Given the description of an element on the screen output the (x, y) to click on. 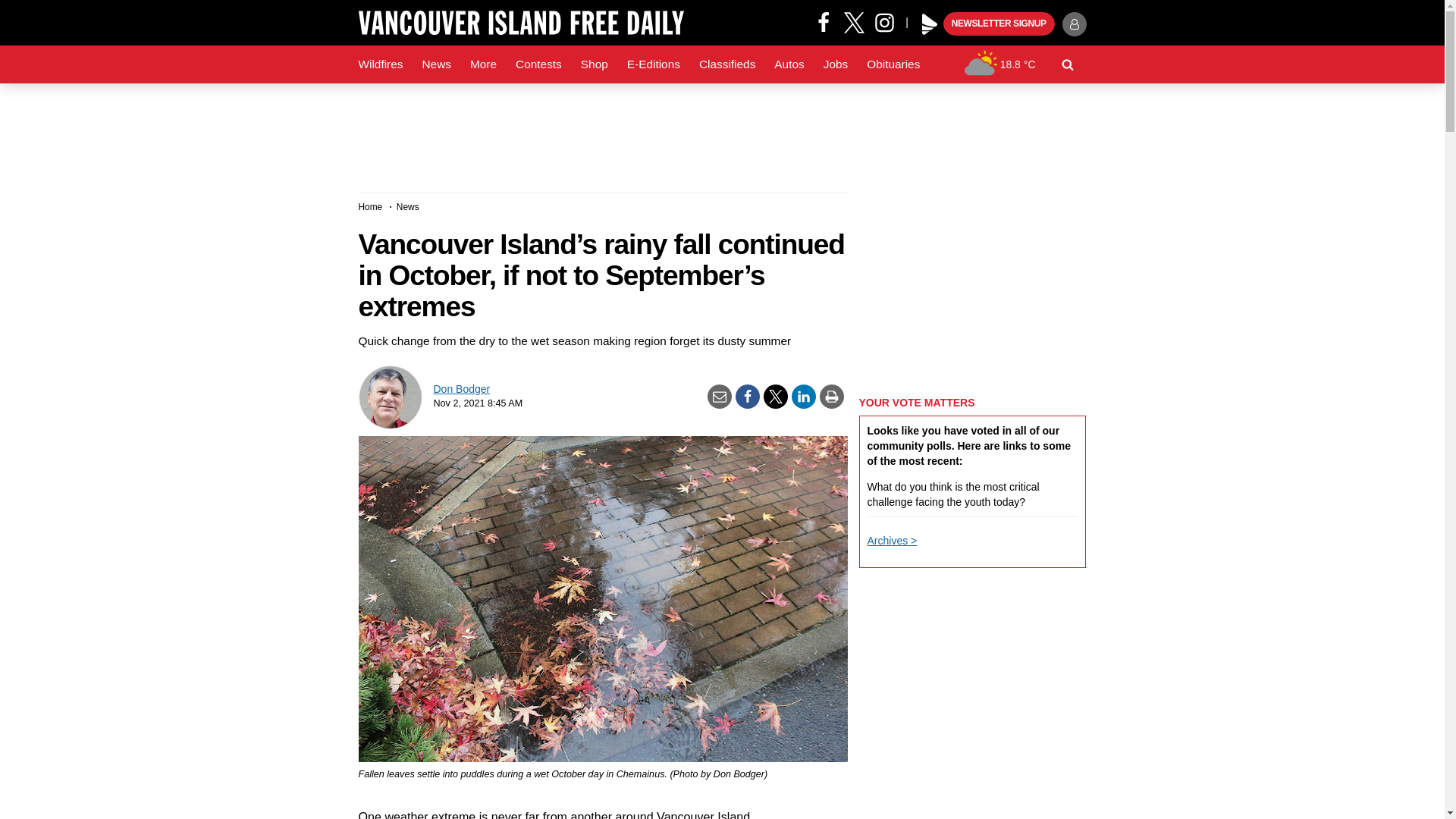
X (853, 21)
Instagram (889, 21)
Facebook (823, 21)
Wildfires (380, 64)
NEWSLETTER SIGNUP (998, 24)
Black Press Media (929, 24)
Play (929, 24)
News (435, 64)
